Given the description of an element on the screen output the (x, y) to click on. 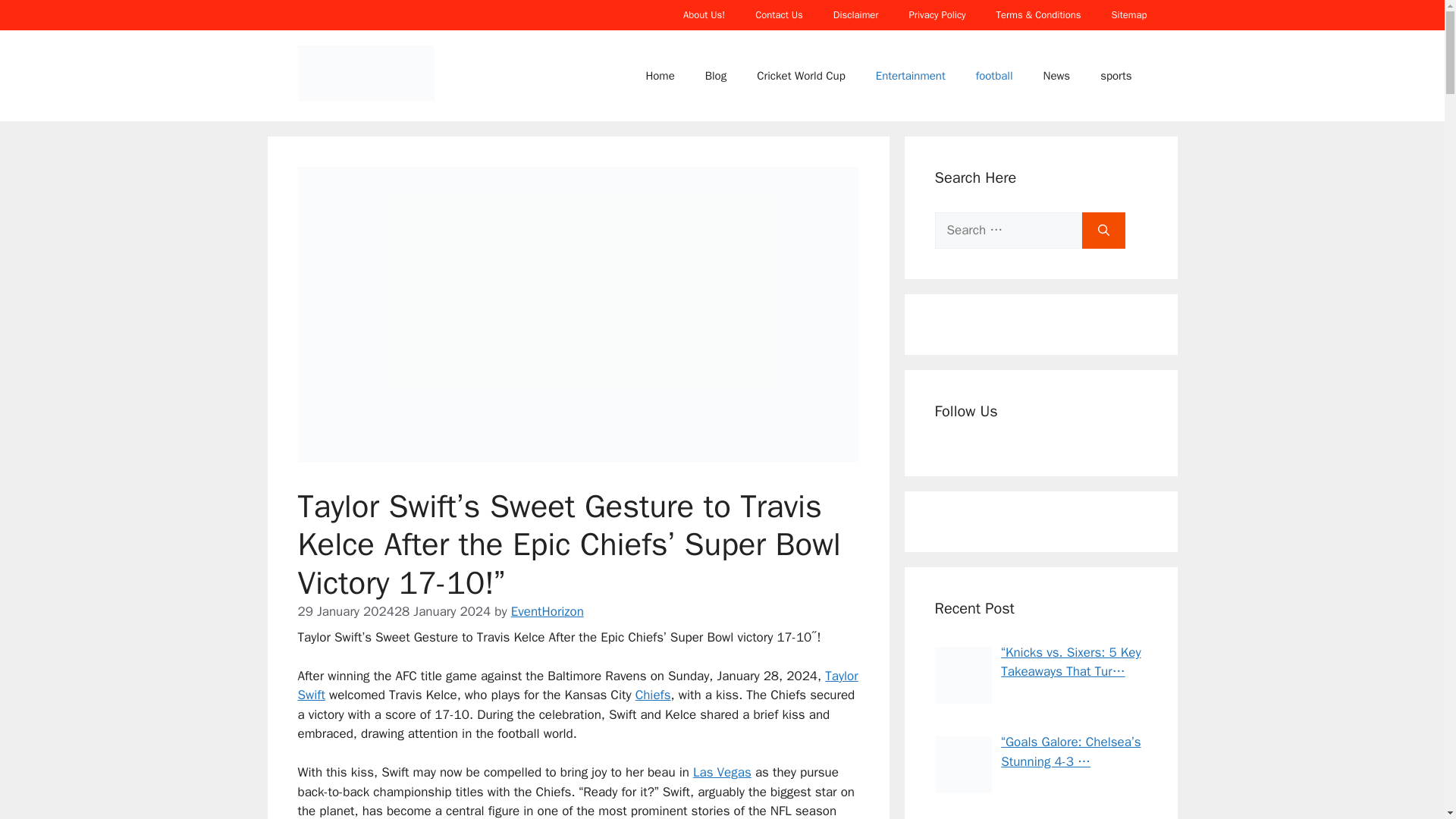
Entertainment (910, 75)
Taylor Swift (577, 685)
Las Vegas (722, 772)
sports (1115, 75)
Chiefs (652, 694)
Blog (715, 75)
News (1056, 75)
View all posts by EventHorizon (547, 611)
EventHorizon (547, 611)
football (993, 75)
